Given the description of an element on the screen output the (x, y) to click on. 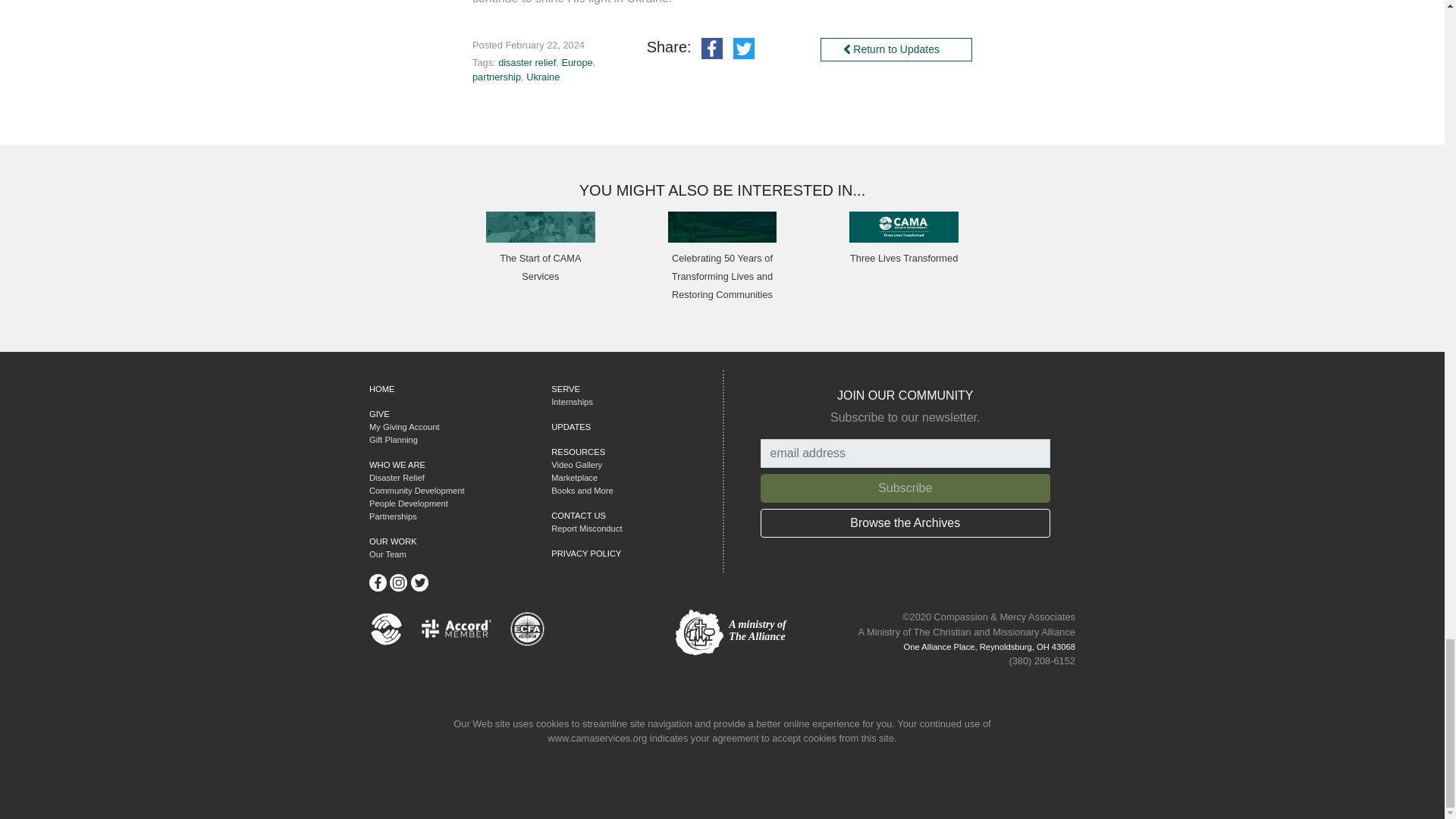
My Giving Account (404, 426)
GIVE (379, 413)
partnership (496, 76)
HOME (381, 388)
Three Lives Transformed (904, 257)
Subscribe (904, 488)
Europe (576, 61)
Return to Updates (896, 49)
disaster relief (526, 61)
Gift Planning (393, 439)
The Start of CAMA Services (539, 266)
Ukraine (542, 76)
